Given the description of an element on the screen output the (x, y) to click on. 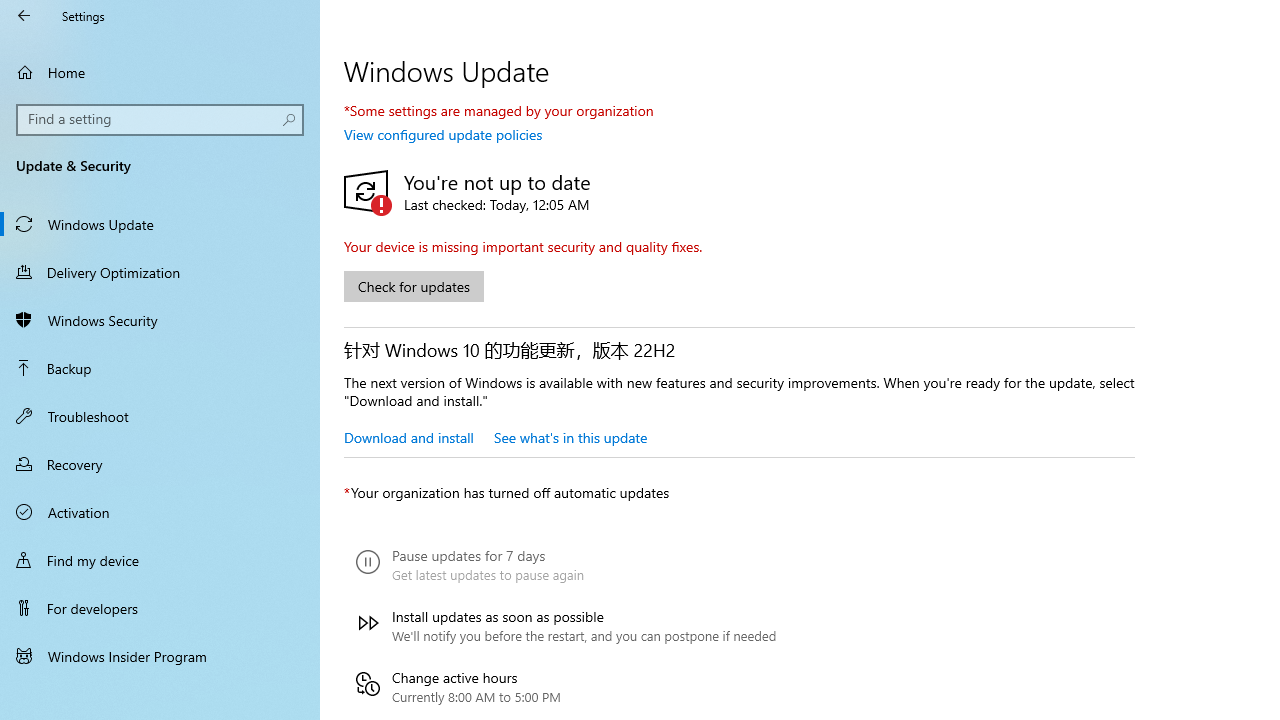
Change active hours (566, 686)
For developers (160, 607)
Troubleshoot (160, 415)
Windows Update (160, 223)
Windows Insider Program (160, 655)
